Given the description of an element on the screen output the (x, y) to click on. 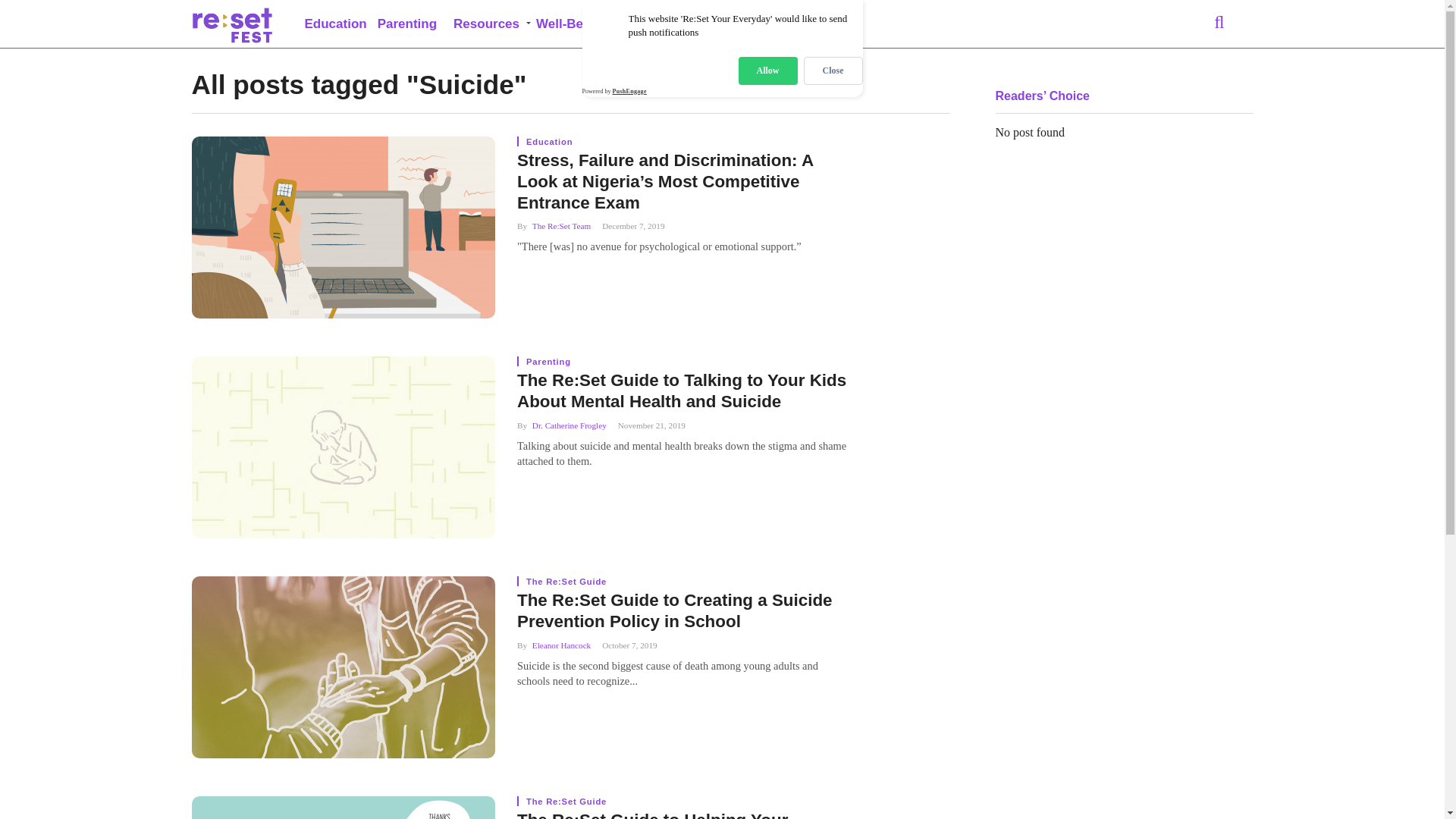
Resources (486, 23)
Well-Being (569, 23)
Posts by Dr. Catherine Frogley (569, 424)
Eleanor Hancock (561, 644)
Posts by The Re:Set Team (561, 225)
Dr. Catherine Frogley (569, 424)
Education (334, 23)
Posts by Eleanor Hancock (561, 644)
Parenting (407, 23)
The Re:Set Team (561, 225)
